Given the description of an element on the screen output the (x, y) to click on. 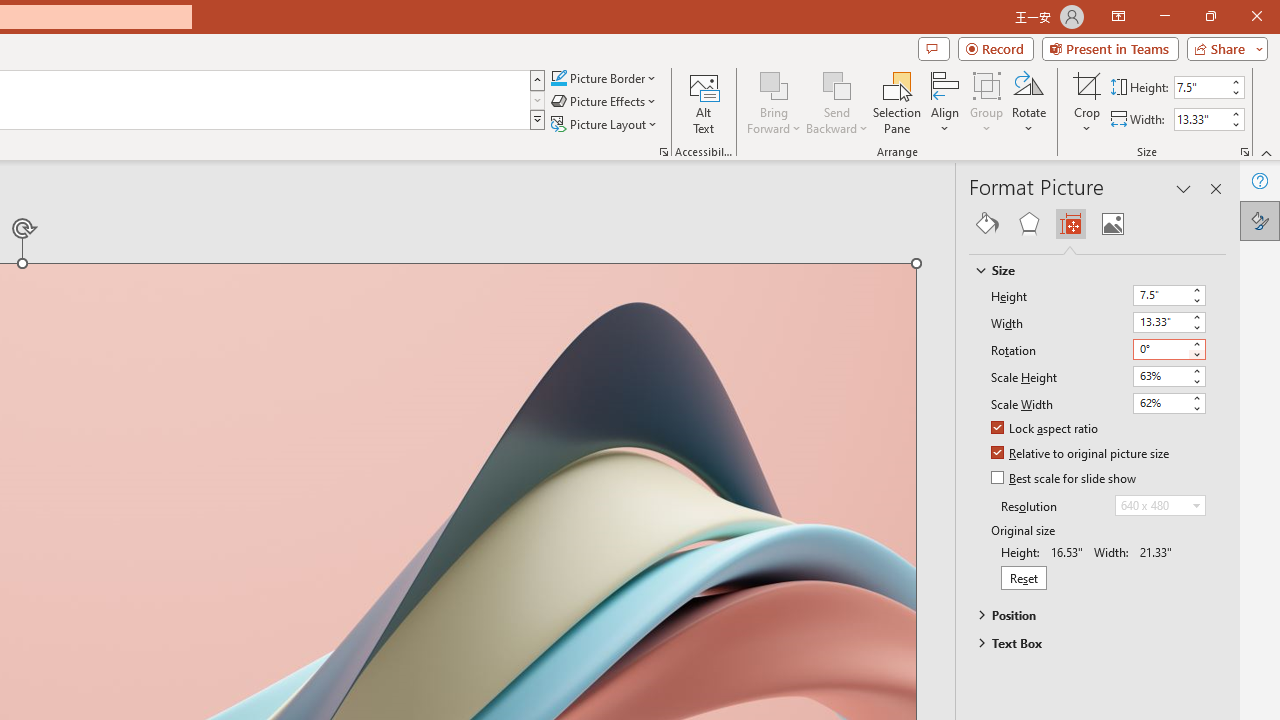
Width (1168, 321)
Relative to original picture size (1081, 453)
Rotation (1160, 348)
Send Backward (836, 84)
Scale Height (1160, 376)
Size and Position... (1244, 151)
Bring Forward (773, 84)
